Given the description of an element on the screen output the (x, y) to click on. 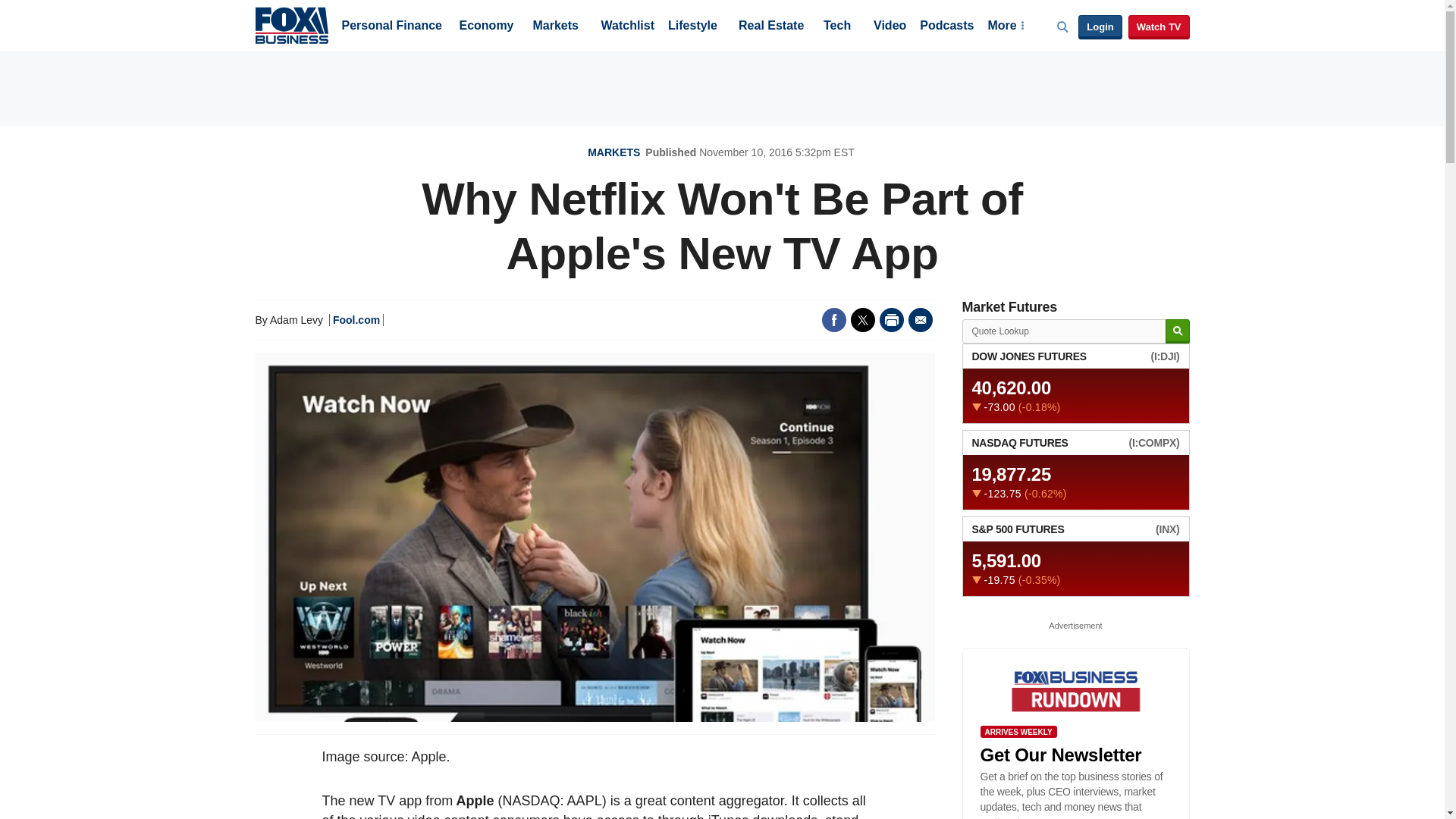
Search (1176, 331)
Search (1176, 331)
Watchlist (626, 27)
Video (889, 27)
Tech (837, 27)
Fox Business (290, 24)
Podcasts (947, 27)
More (1005, 27)
Economy (486, 27)
Lifestyle (692, 27)
Markets (555, 27)
Watch TV (1158, 27)
Real Estate (770, 27)
Personal Finance (391, 27)
Login (1099, 27)
